Given the description of an element on the screen output the (x, y) to click on. 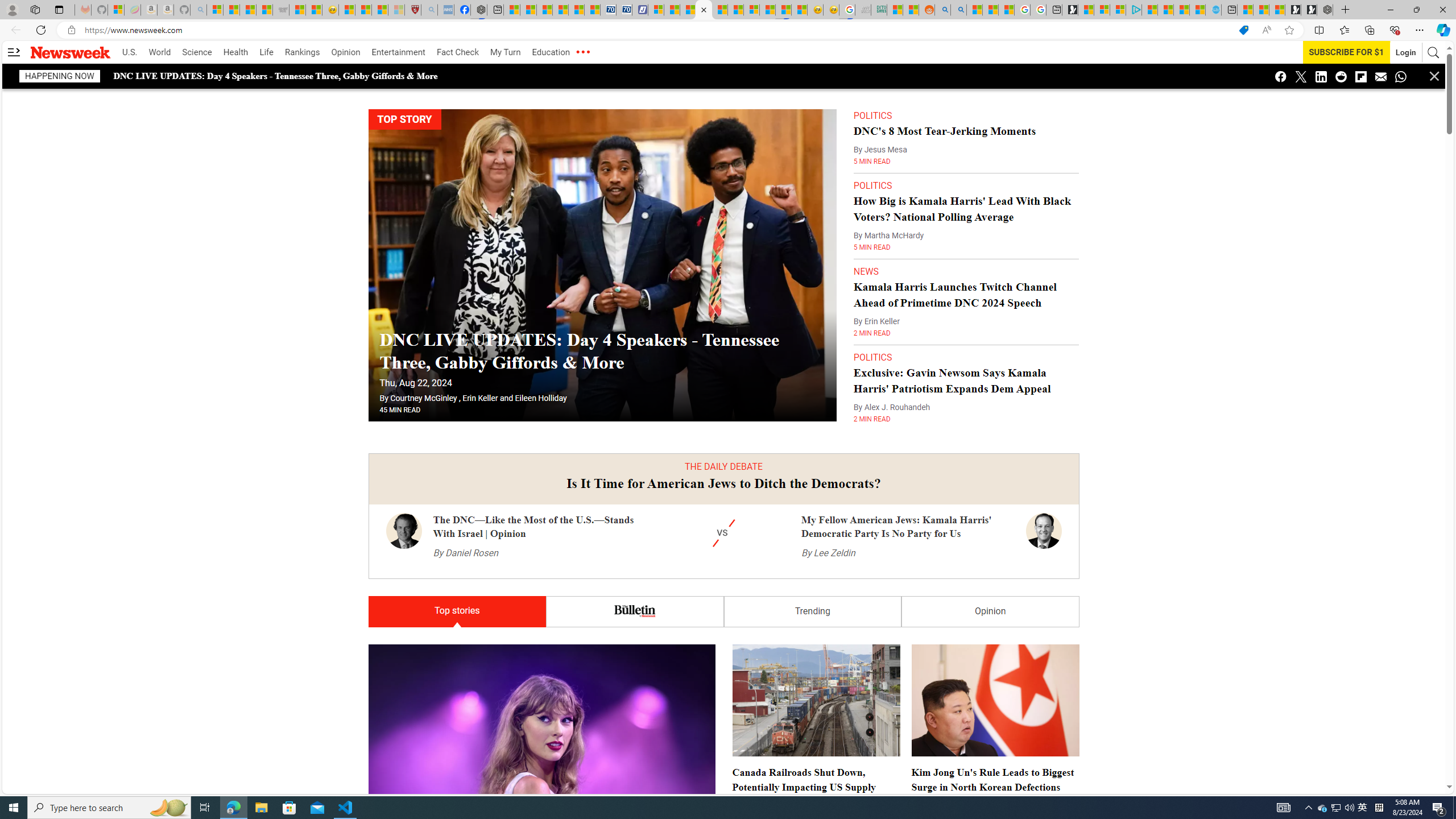
Cheap Car Rentals - Save70.com (608, 9)
Nordace - Nordace Siena Is Not An Ordinary Backpack (1324, 9)
POLITICS (872, 357)
Robert H. Shmerling, MD - Harvard Health (413, 9)
Home | Sky Blue Bikes - Sky Blue Bikes (1213, 9)
World (159, 52)
